Given the description of an element on the screen output the (x, y) to click on. 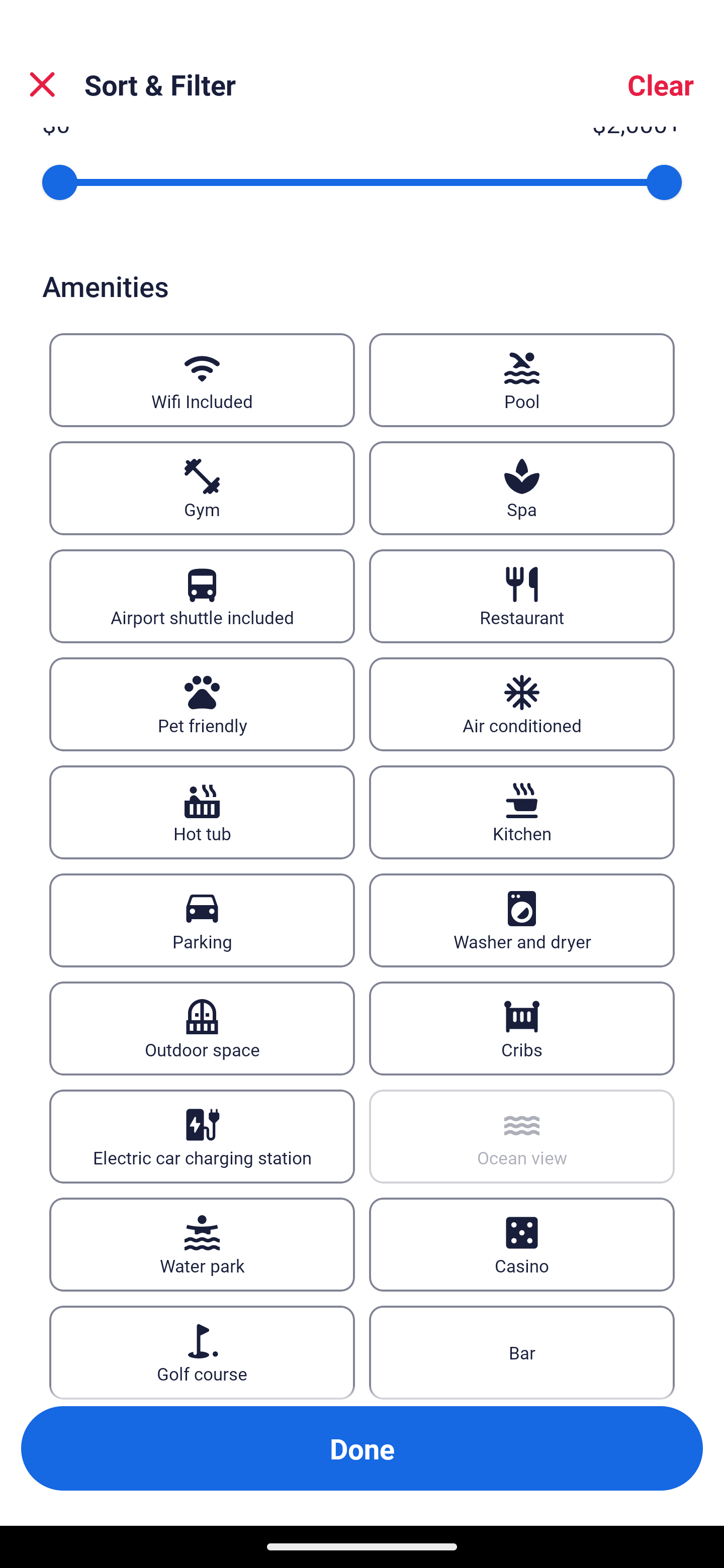
Close Sort and Filter (42, 84)
Clear (660, 84)
Wifi Included (201, 379)
Pool (521, 379)
Gym (201, 487)
Spa (521, 487)
Airport shuttle included (201, 595)
Restaurant (521, 595)
Pet friendly (201, 703)
Air conditioned (521, 703)
Hot tub (201, 812)
Kitchen (521, 812)
Parking (201, 920)
Washer and dryer (521, 920)
Outdoor space (201, 1028)
Cribs (521, 1028)
Electric car charging station (201, 1136)
Ocean view (521, 1136)
Water park (201, 1244)
Casino (521, 1244)
Golf course (201, 1353)
Bar (521, 1353)
Apply and close Sort and Filter Done (361, 1448)
